Given the description of an element on the screen output the (x, y) to click on. 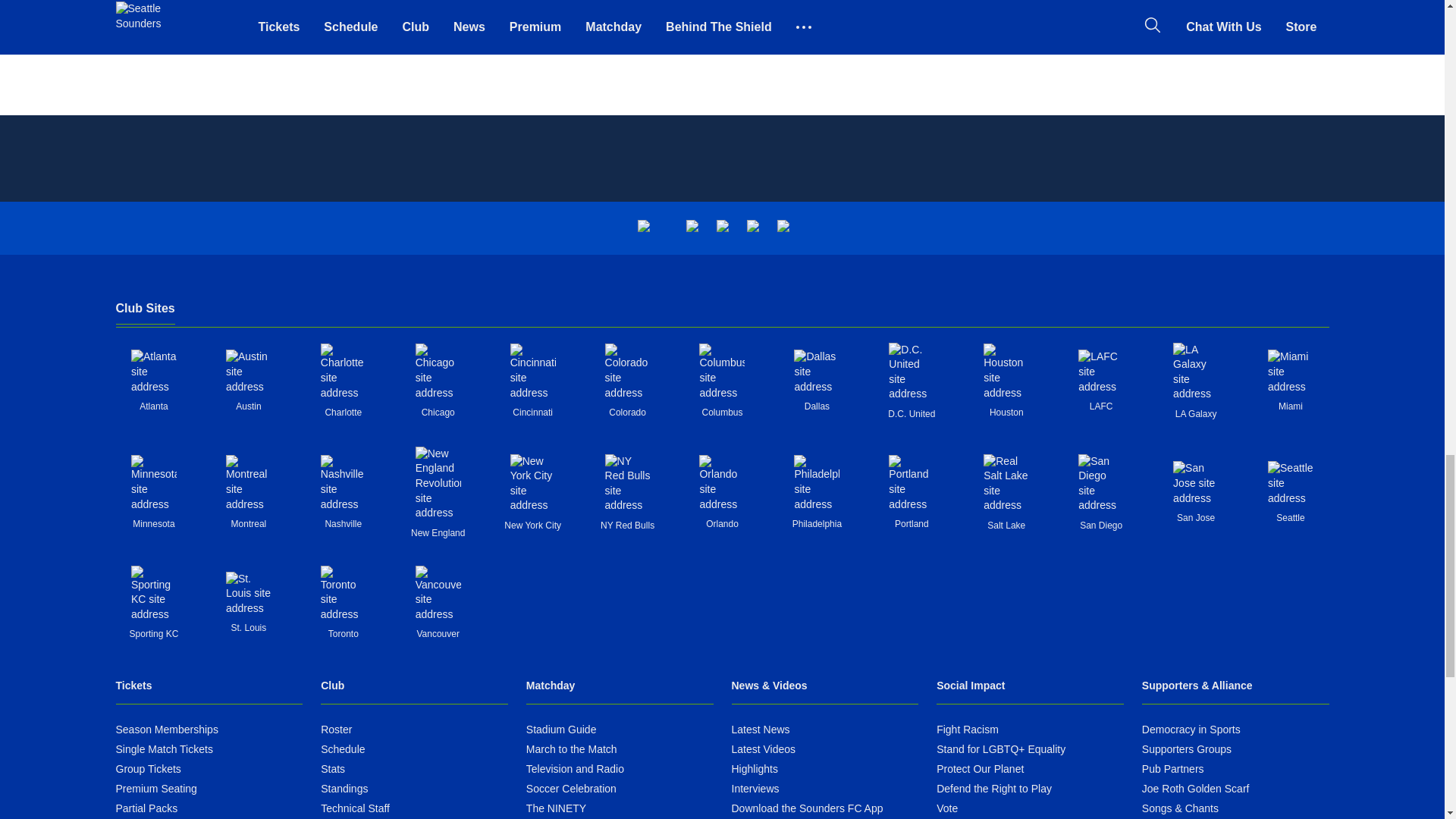
LEARN MORE (663, 12)
BUY NOW (572, 12)
Emerald Queen Casino (722, 227)
Continental (751, 227)
Link to Charlotte (343, 371)
LEARN MORE (1073, 12)
Providence (643, 227)
Link to Austin (247, 371)
BUY NOW (983, 12)
BUY NOW (162, 3)
Delta (691, 227)
Link to Atlanta (153, 371)
Regence (782, 227)
